Given the description of an element on the screen output the (x, y) to click on. 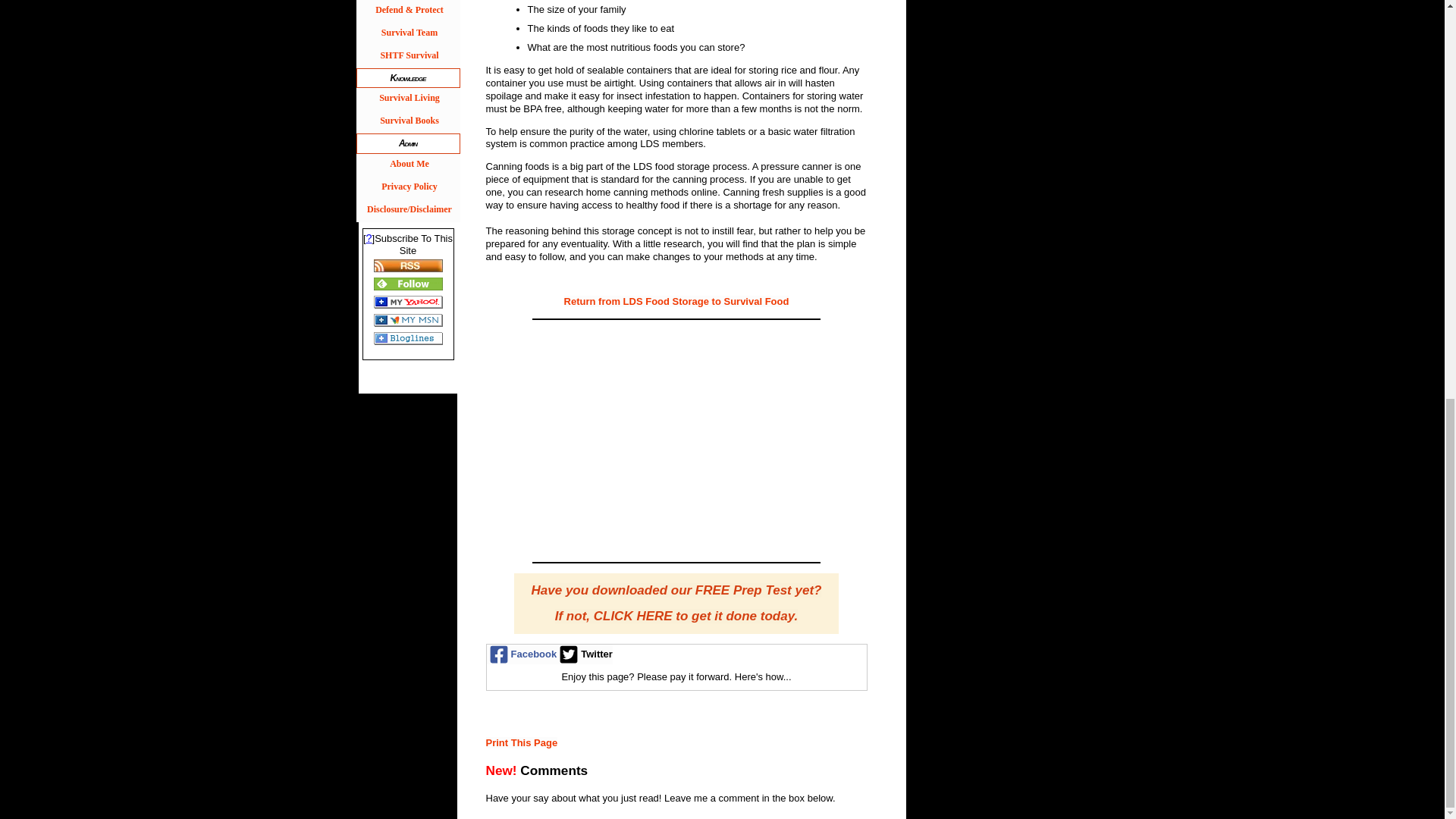
Have you downloaded our FREE Prep Test yet? (676, 591)
Survival Living (408, 98)
Return from LDS Food Storage to Survival Food (676, 301)
Facebook (521, 654)
Twitter (584, 654)
SHTF Survival (408, 56)
Print This Page (520, 742)
If not, CLICK HERE to get it done today. (675, 616)
Survival Books (408, 121)
Survival Team (408, 33)
